Given the description of an element on the screen output the (x, y) to click on. 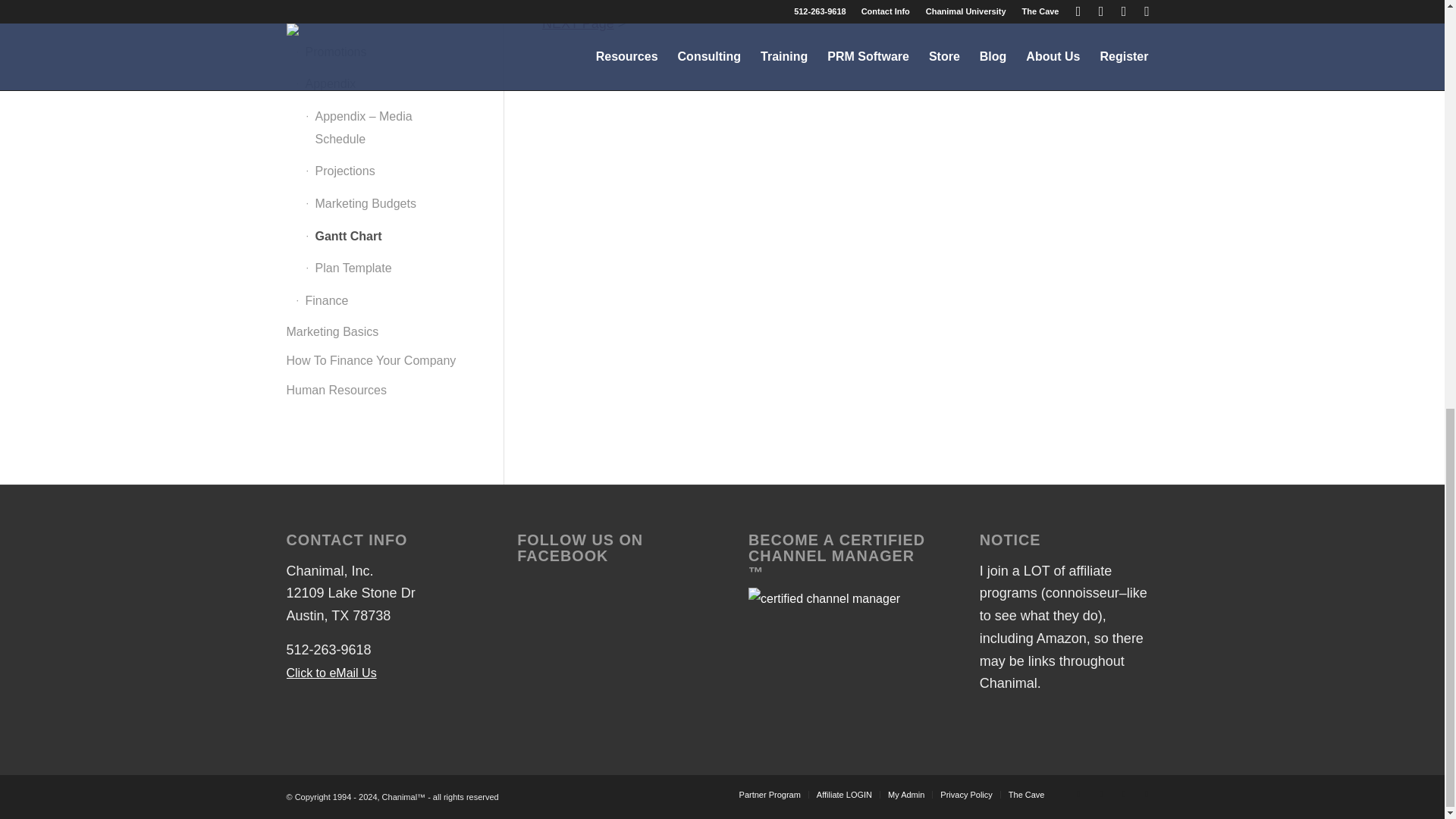
LinkedIn (1146, 793)
Facebook (1078, 793)
Facebook (1101, 793)
Plan Template (577, 23)
Youtube (1124, 793)
